Given the description of an element on the screen output the (x, y) to click on. 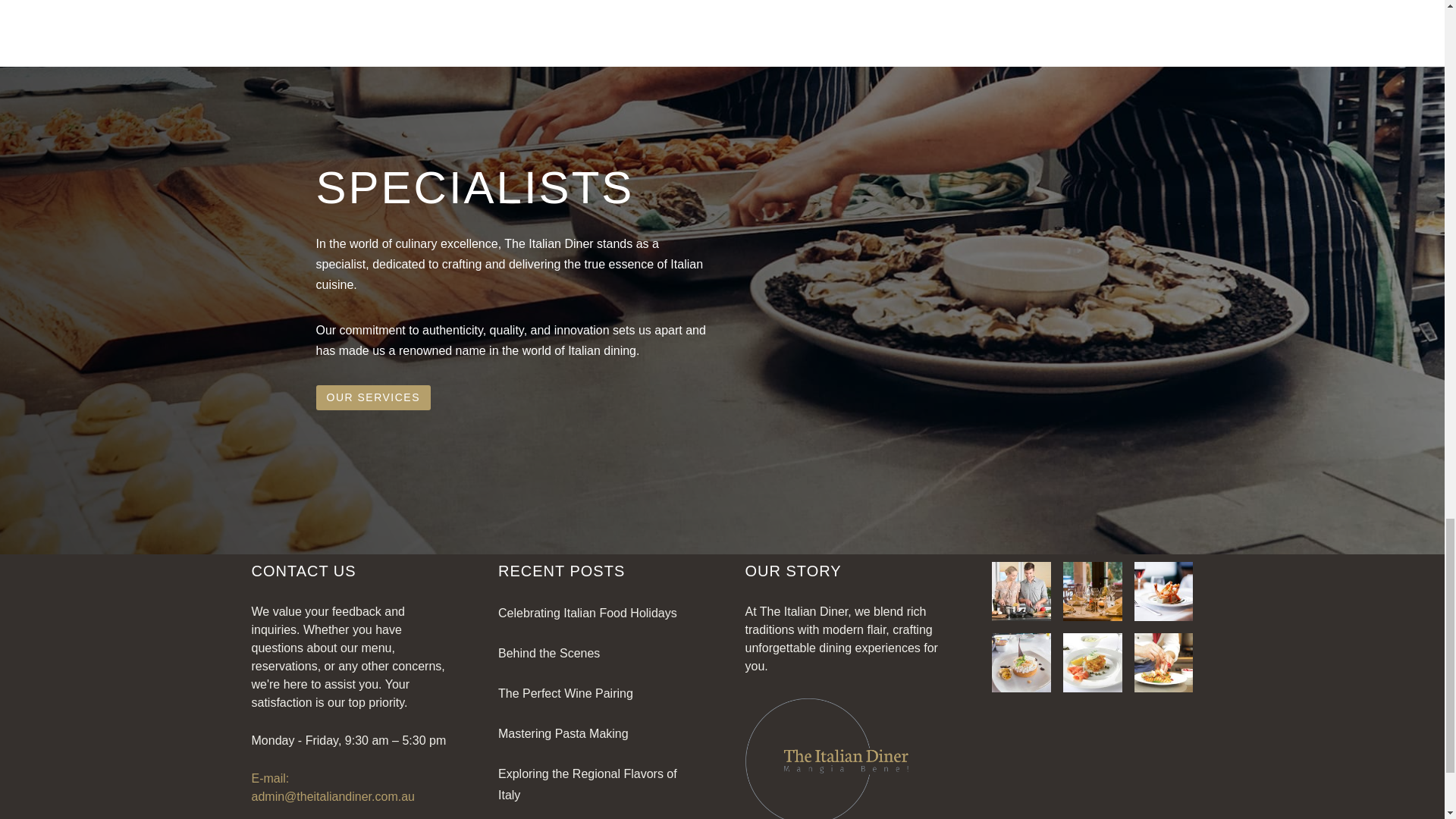
The Perfect Wine Pairing (565, 693)
Exploring the Regional Flavors of Italy (587, 784)
Celebrating Italian Food Holidays (587, 612)
Behind the Scenes (548, 653)
Mastering Pasta Making (562, 733)
